Given the description of an element on the screen output the (x, y) to click on. 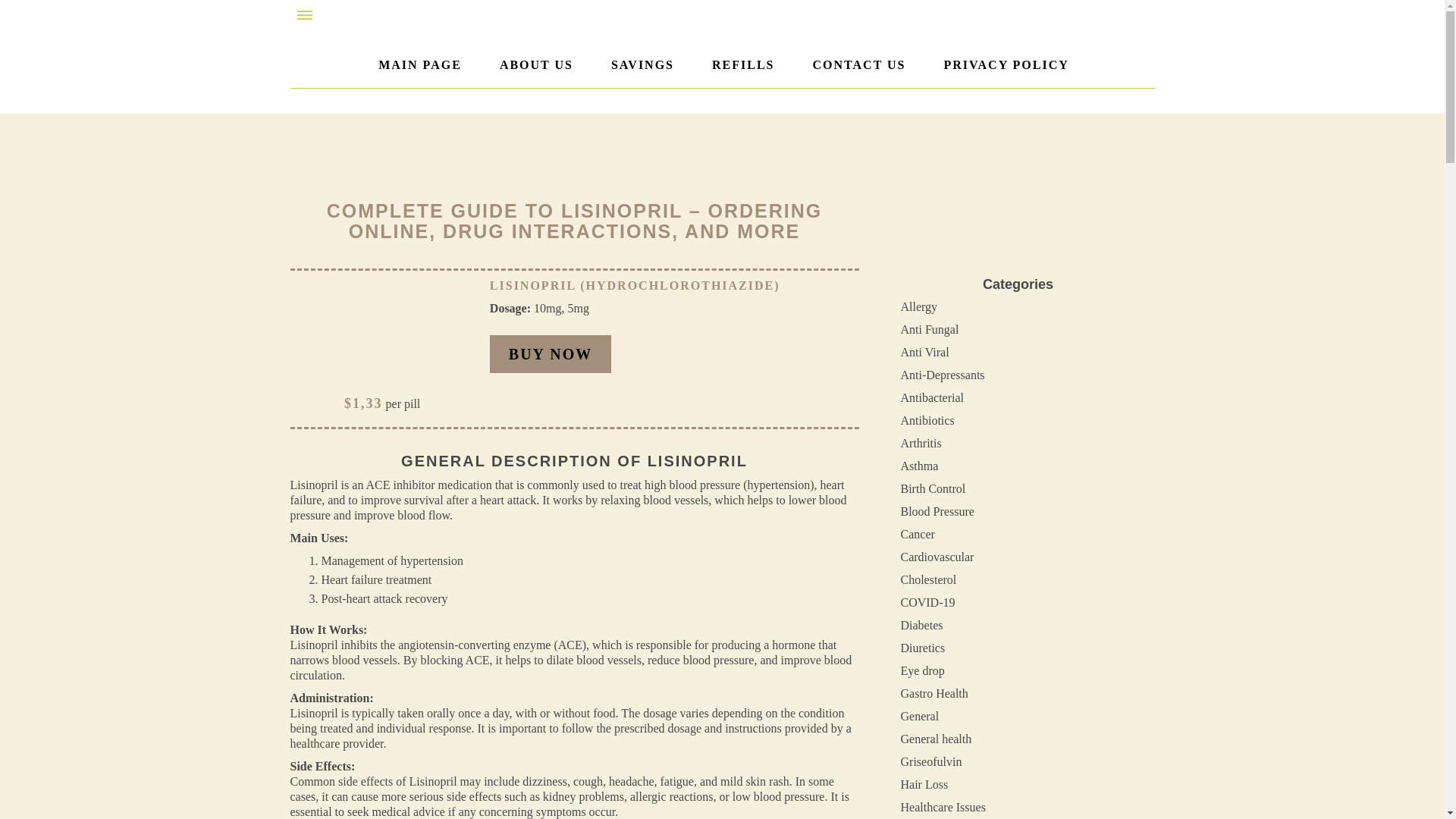
Eye drop (922, 670)
Griseofulvin (931, 761)
REFILLS (743, 64)
Birth Control (933, 488)
CONTACT US (858, 64)
Anti Viral (925, 351)
Anti Fungal (930, 328)
Gastro Health (934, 693)
Arthritis (921, 442)
PRIVACY POLICY (1005, 64)
